Given the description of an element on the screen output the (x, y) to click on. 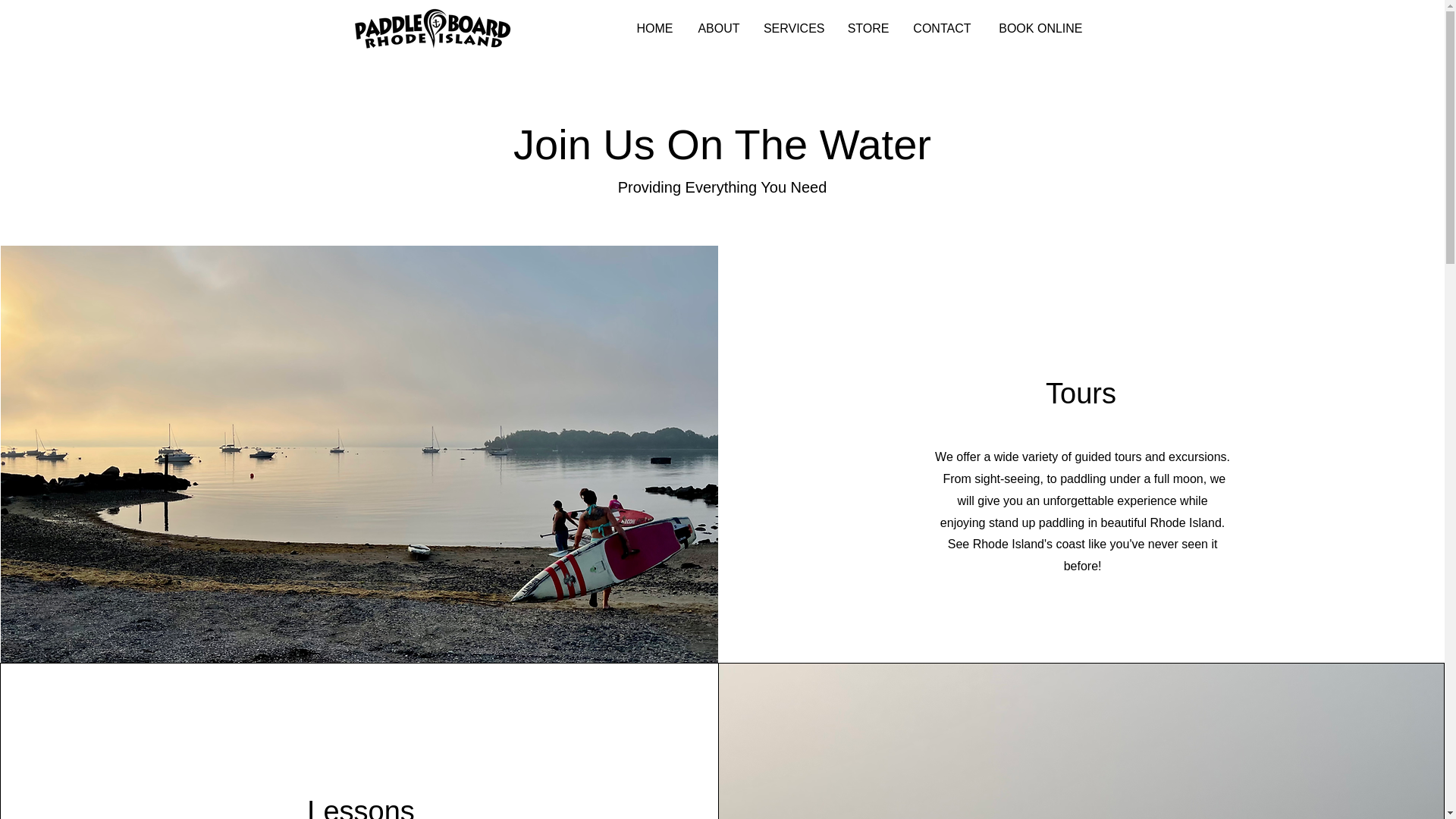
CONTACT (941, 28)
ABOUT (717, 28)
HOME (652, 28)
Paddle Board RI (431, 28)
SERVICES (793, 28)
BOOK ONLINE (1038, 28)
STORE (867, 28)
